Given the description of an element on the screen output the (x, y) to click on. 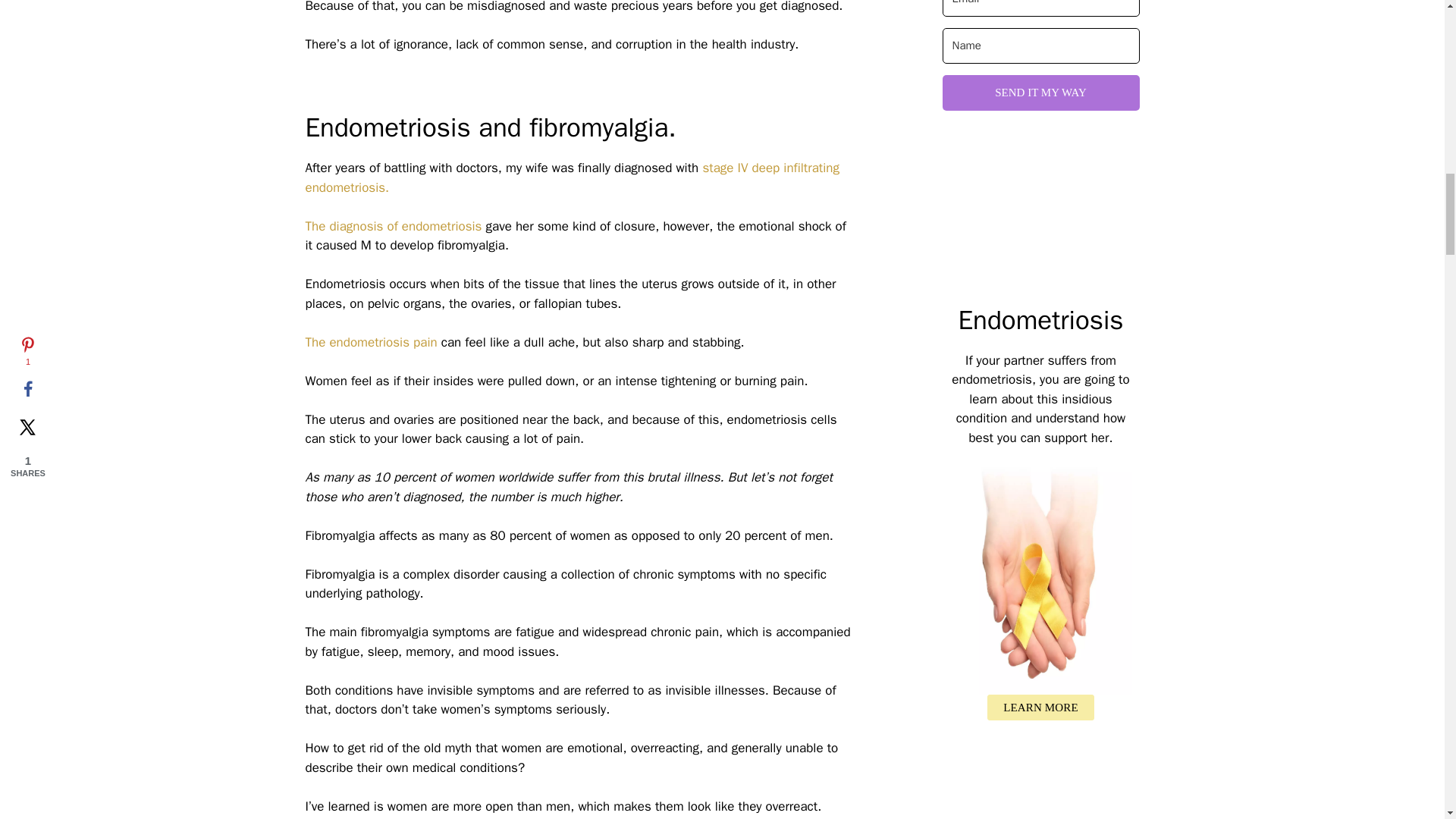
LEARN MORE (1040, 707)
SEND IT MY WAY (1040, 92)
The diagnosis of endometriosis (392, 226)
stage IV deep infiltrating endometriosis. (572, 177)
The endometriosis pain (370, 342)
